Given the description of an element on the screen output the (x, y) to click on. 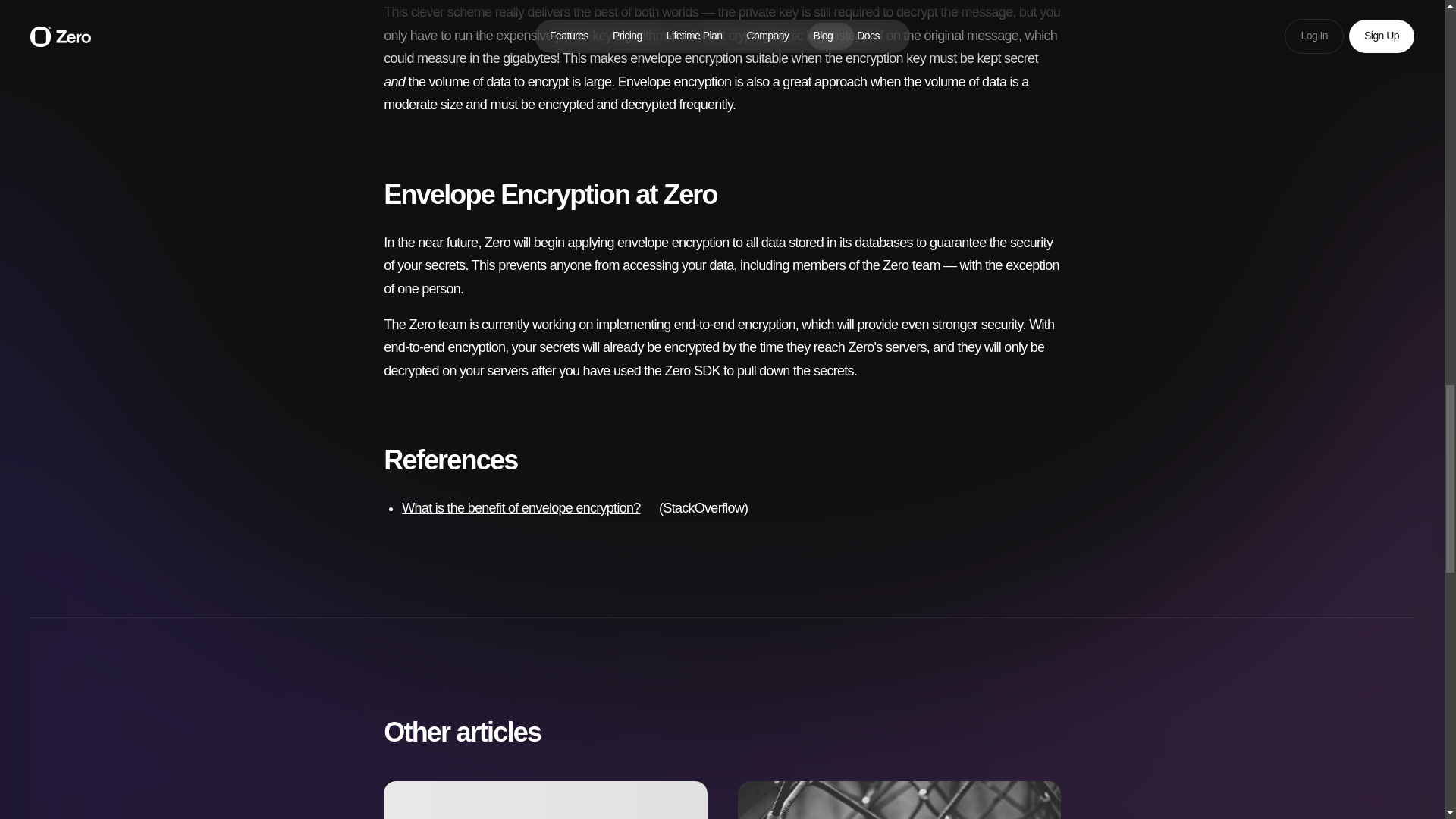
What is the benefit of envelope encryption?  (528, 507)
